Given the description of an element on the screen output the (x, y) to click on. 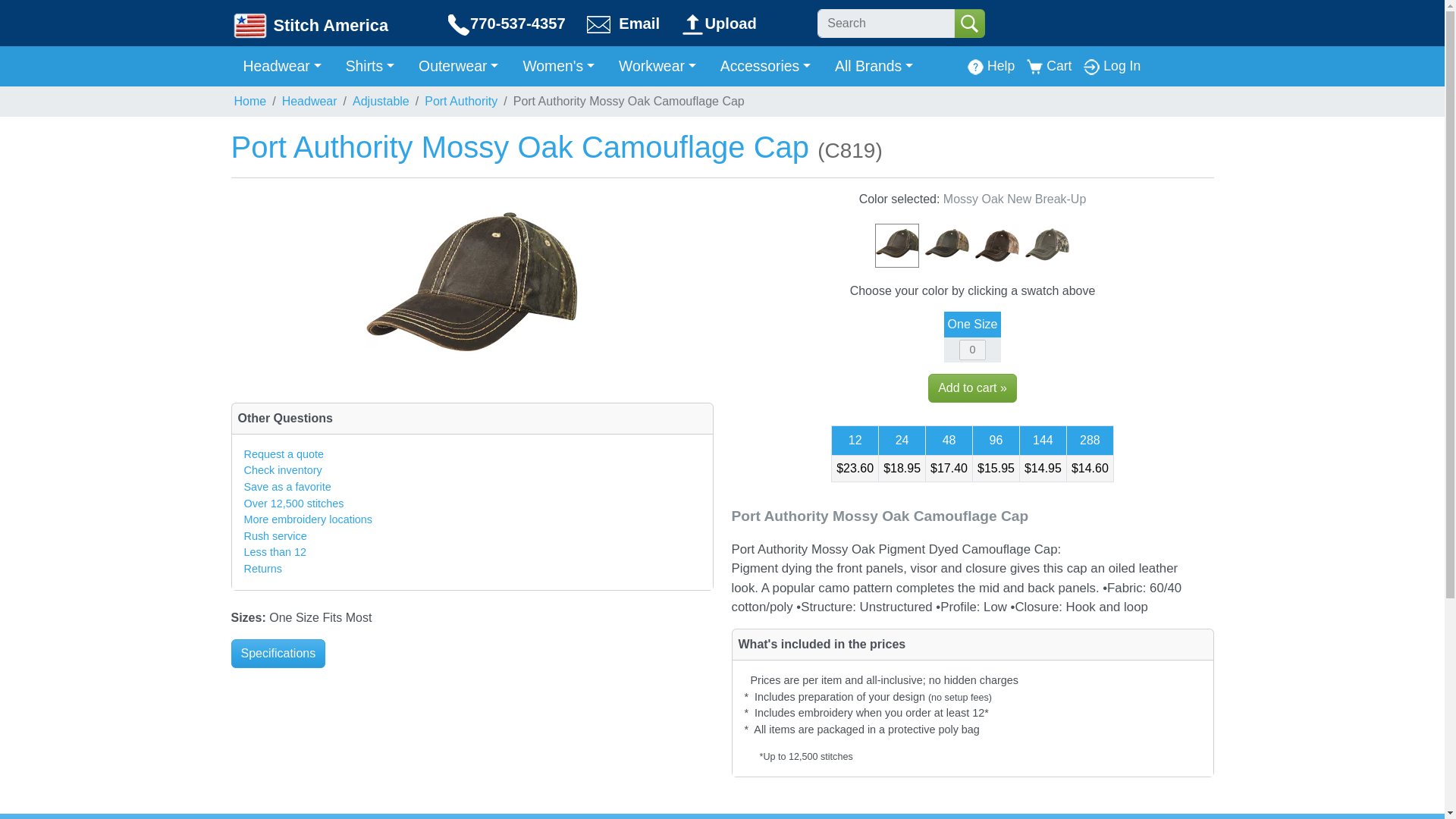
Click a color swatch to select it (971, 235)
Stitch America (309, 24)
  Email (632, 23)
Upload (718, 23)
Enter quantity to add (972, 350)
770-537-4357 (514, 23)
